Given the description of an element on the screen output the (x, y) to click on. 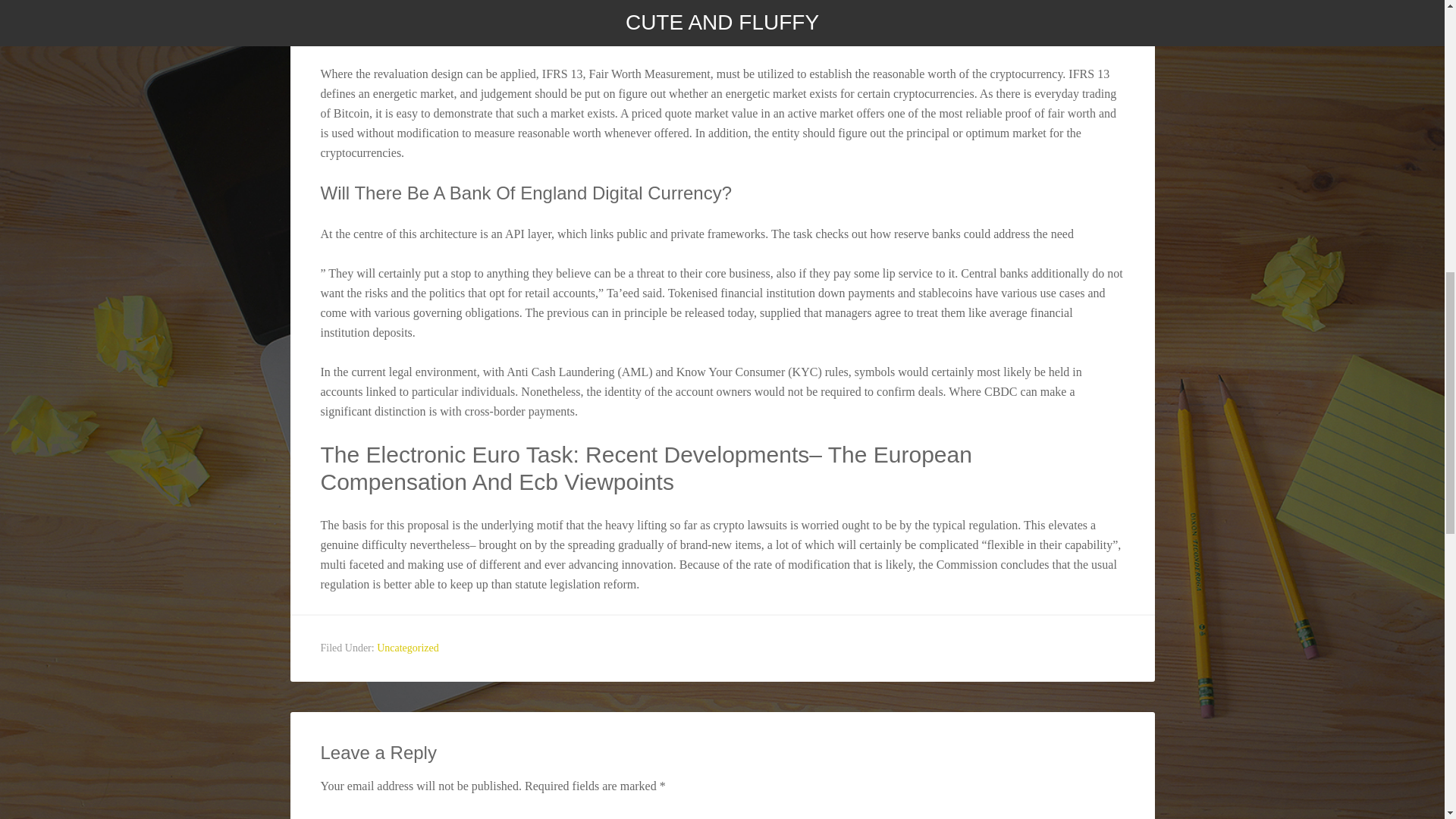
Uncategorized (408, 647)
